Given the description of an element on the screen output the (x, y) to click on. 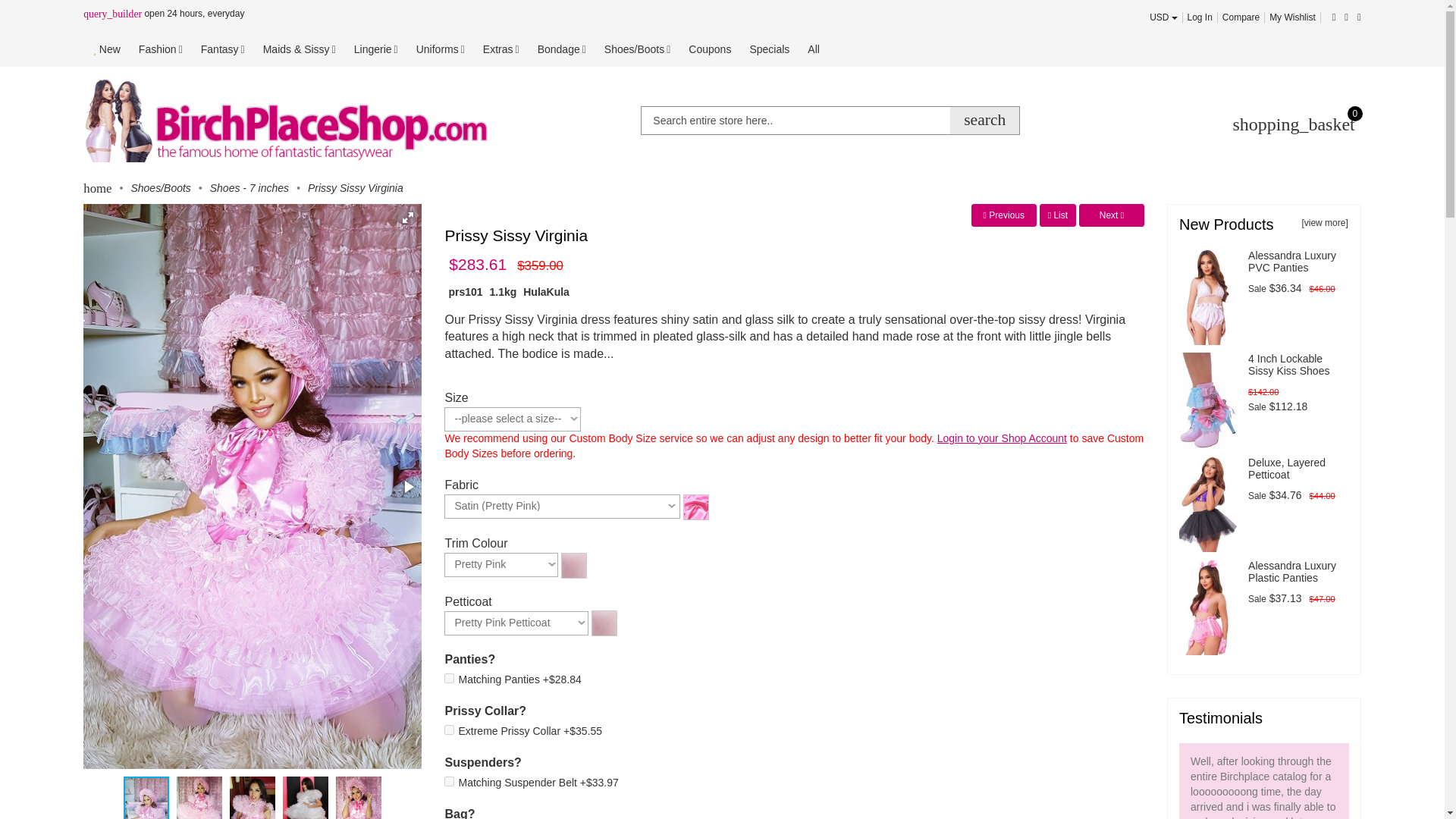
see more of our colours (573, 563)
My Wishlist (1292, 17)
see more of our colours (604, 622)
Log In (1200, 17)
127 (449, 781)
116 (449, 678)
Compare (1241, 17)
Search entire store here.. (830, 120)
see more of our colours (695, 505)
721 (449, 729)
